Given the description of an element on the screen output the (x, y) to click on. 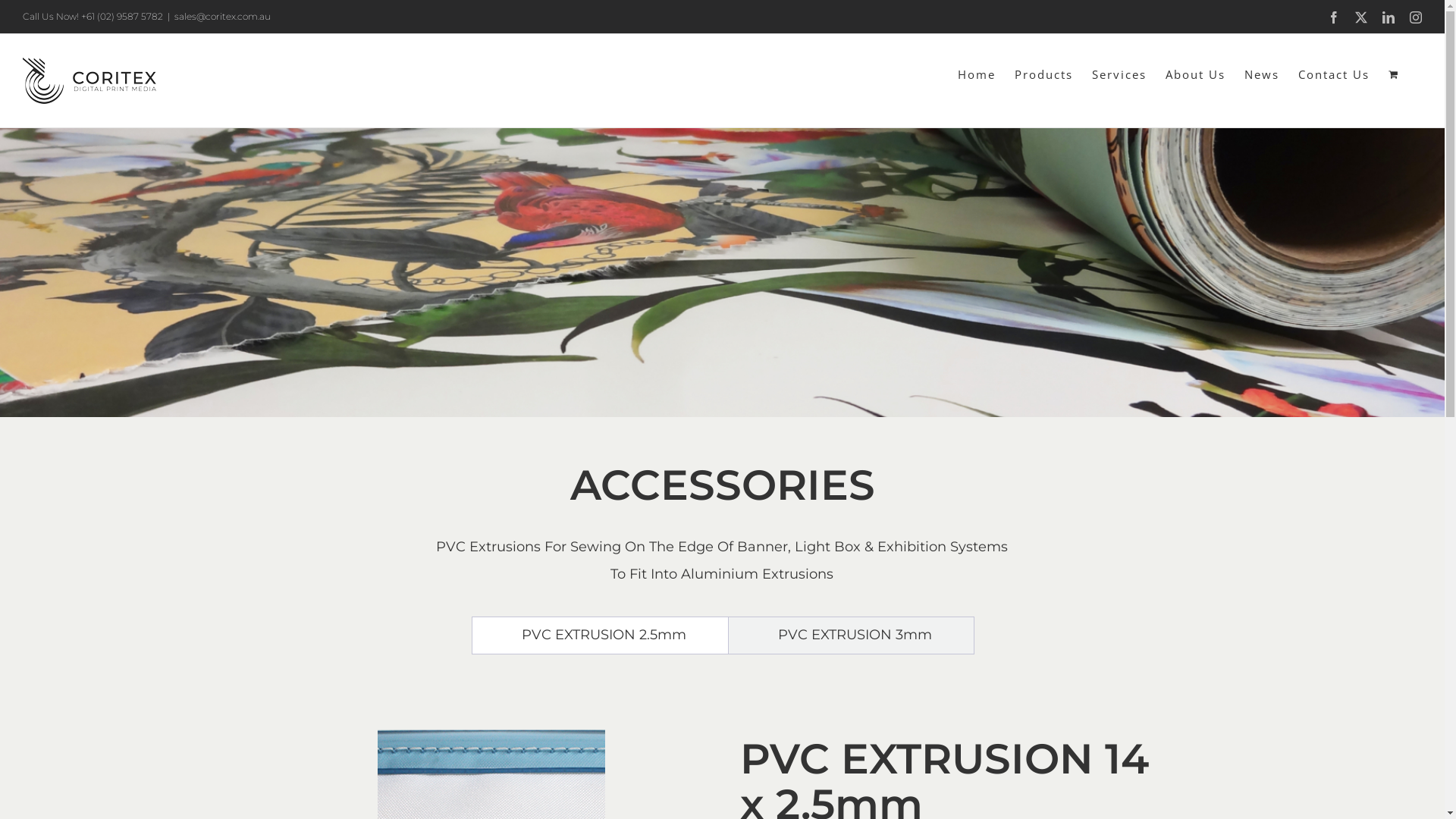
Instagram Element type: text (1415, 17)
sales@coritex.com.au Element type: text (222, 15)
News Element type: text (1261, 73)
LinkedIn Element type: text (1388, 17)
Contact Us Element type: text (1333, 73)
Twitter Element type: text (1361, 17)
PVC EXTRUSION 3mm Element type: text (851, 635)
About Us Element type: text (1195, 73)
Facebook Element type: text (1333, 17)
PVC EXTRUSION 2.5mm Element type: text (599, 635)
Home Element type: text (976, 73)
Services Element type: text (1119, 73)
Products Element type: text (1043, 73)
